Given the description of an element on the screen output the (x, y) to click on. 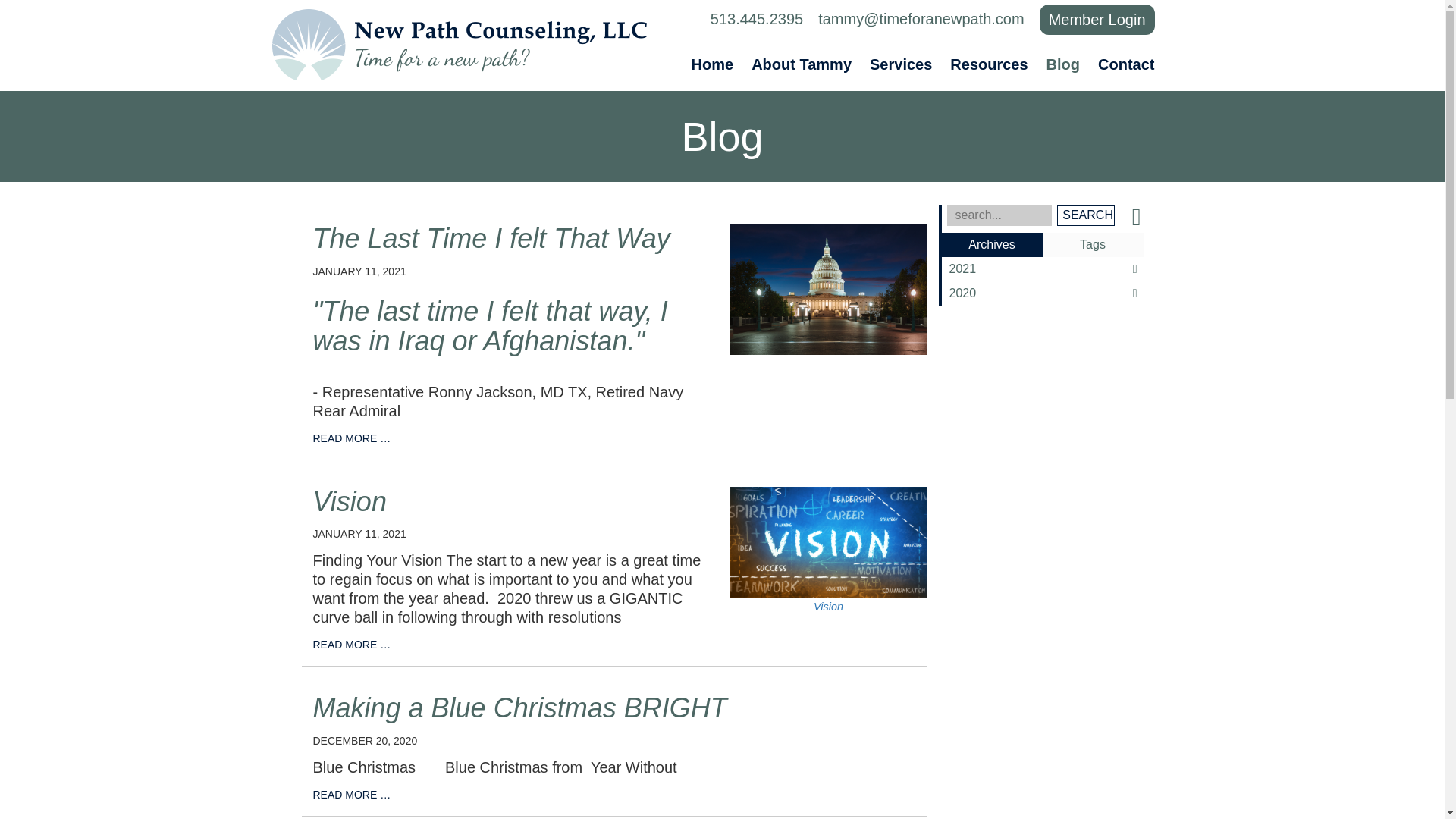
513.445.2395 (756, 18)
2021 (1042, 269)
2020 (1042, 293)
Tags (1092, 244)
Archives (992, 244)
Member Login (1096, 19)
Search (1085, 215)
Blog (1062, 63)
Contact (1121, 63)
Search (1085, 215)
Services (900, 63)
About Tammy (801, 63)
Home (716, 63)
Resources (988, 63)
